Given the description of an element on the screen output the (x, y) to click on. 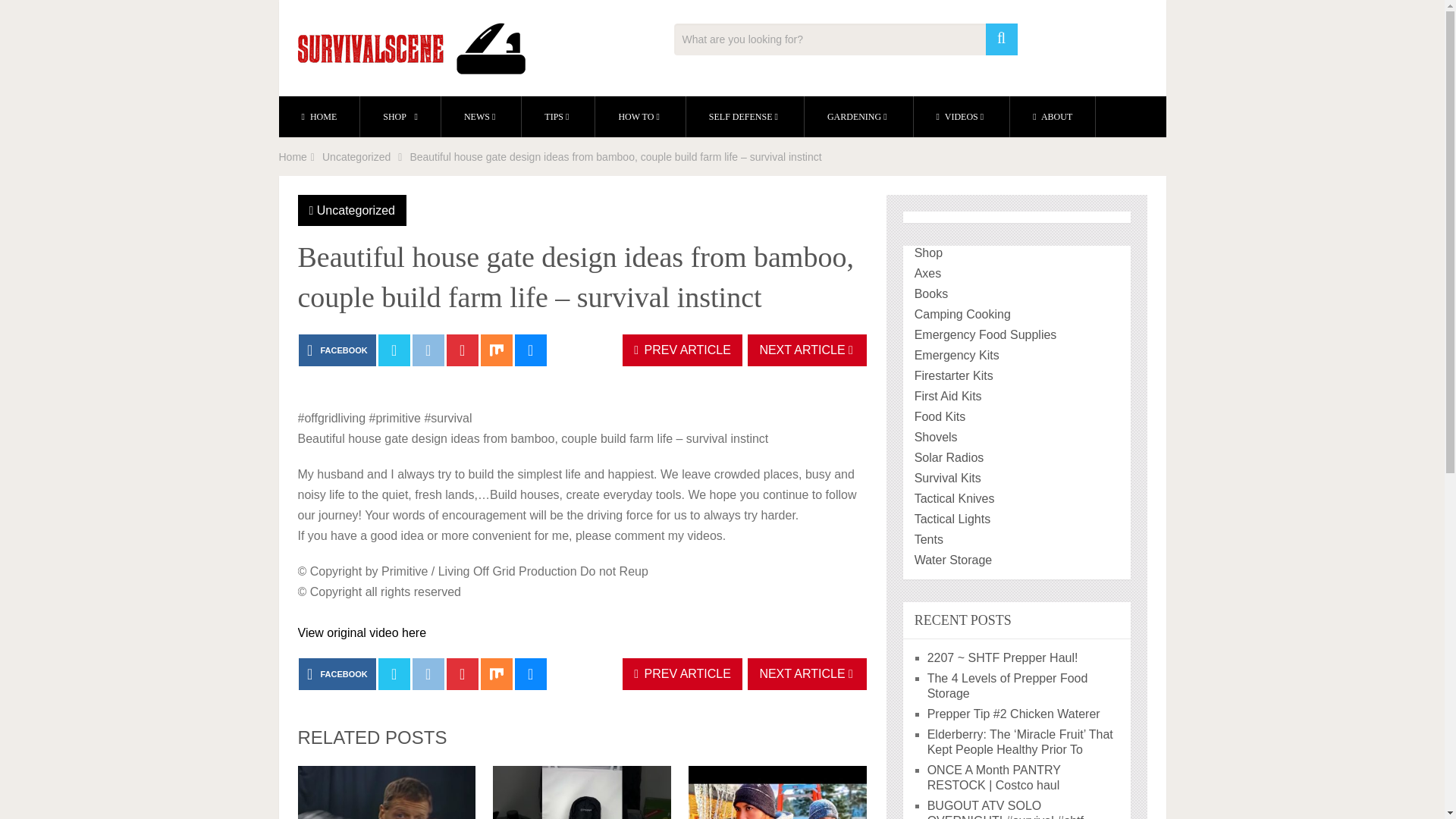
Uncategorized (355, 210)
ABOUT (1052, 116)
FACEBOOK (336, 674)
HOW TO (639, 116)
PREV ARTICLE (682, 350)
SELF DEFENSE (744, 116)
GARDENING (858, 116)
Home (293, 156)
HOME (319, 116)
VIDEOS (962, 116)
